Given the description of an element on the screen output the (x, y) to click on. 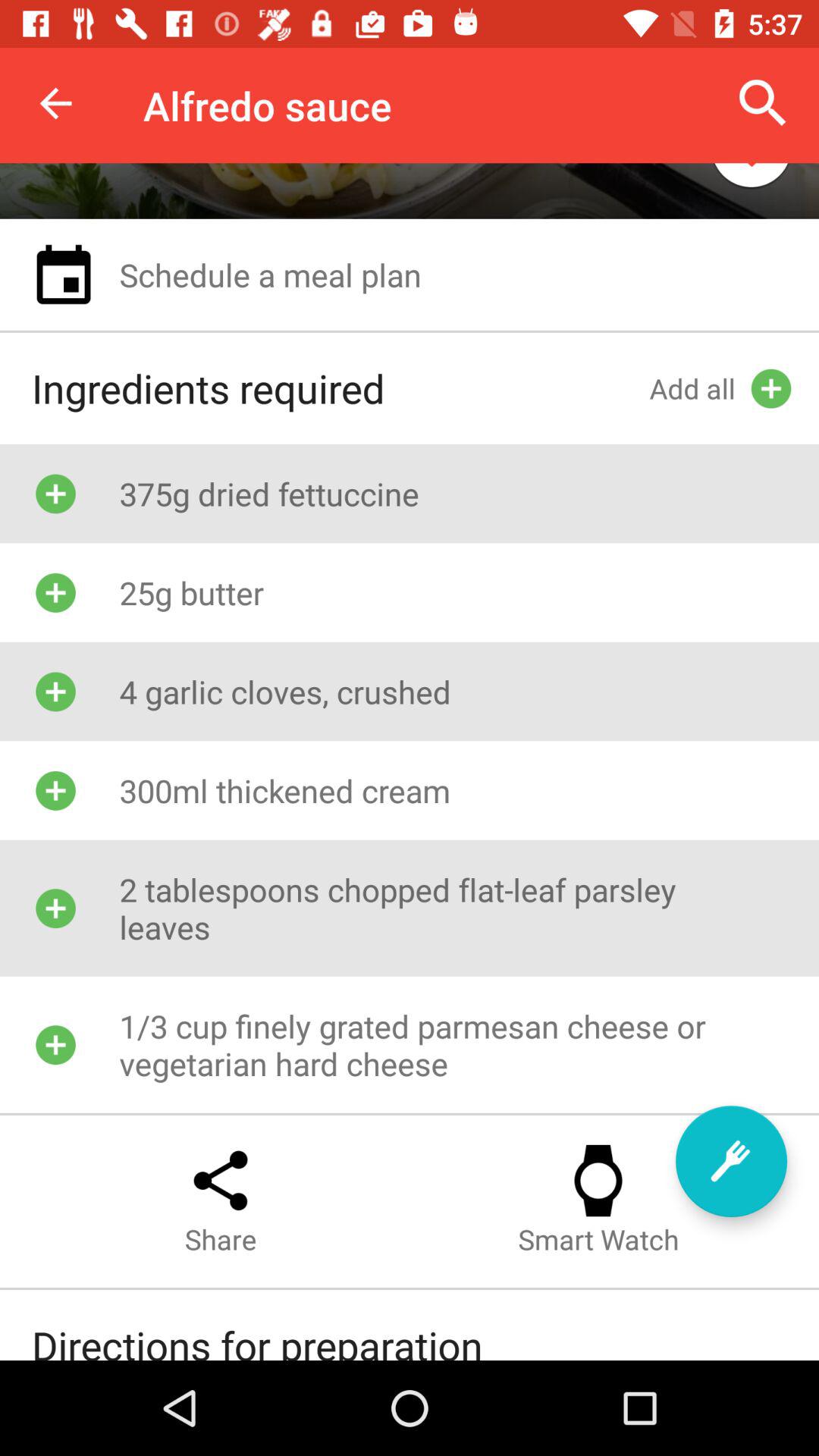
tap icon below 2 tablespoons chopped item (731, 1161)
